Given the description of an element on the screen output the (x, y) to click on. 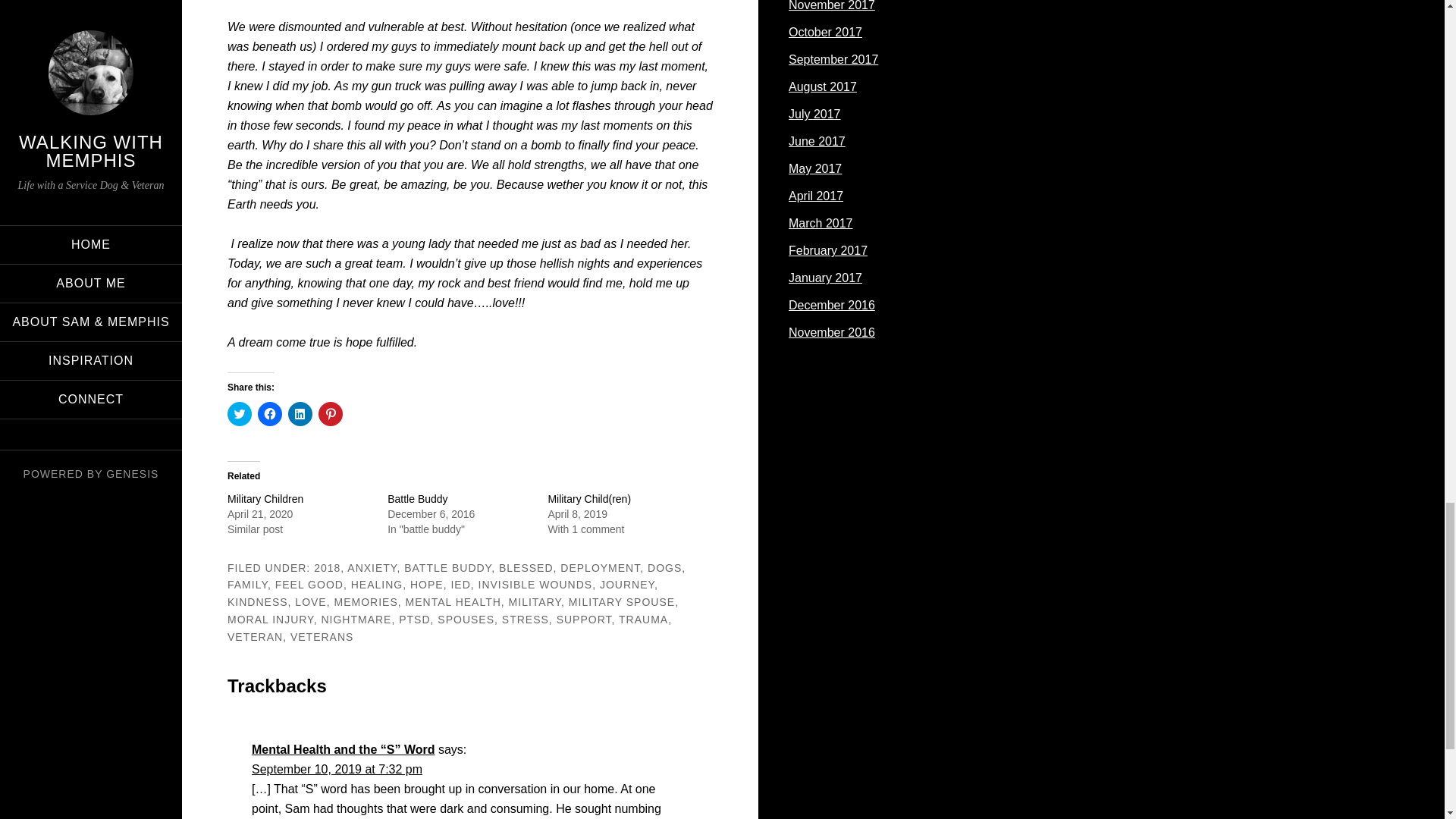
Click to share on Pinterest (330, 413)
Click to share on Facebook (269, 413)
MILITARY (534, 602)
HEALING (376, 584)
Military Children (264, 499)
DOGS (664, 567)
FAMILY (247, 584)
Military Children (264, 499)
Battle Buddy (416, 499)
MEMORIES (365, 602)
2018 (327, 567)
Click to share on LinkedIn (300, 413)
FEEL GOOD (309, 584)
MORAL INJURY (270, 619)
PTSD (413, 619)
